Given the description of an element on the screen output the (x, y) to click on. 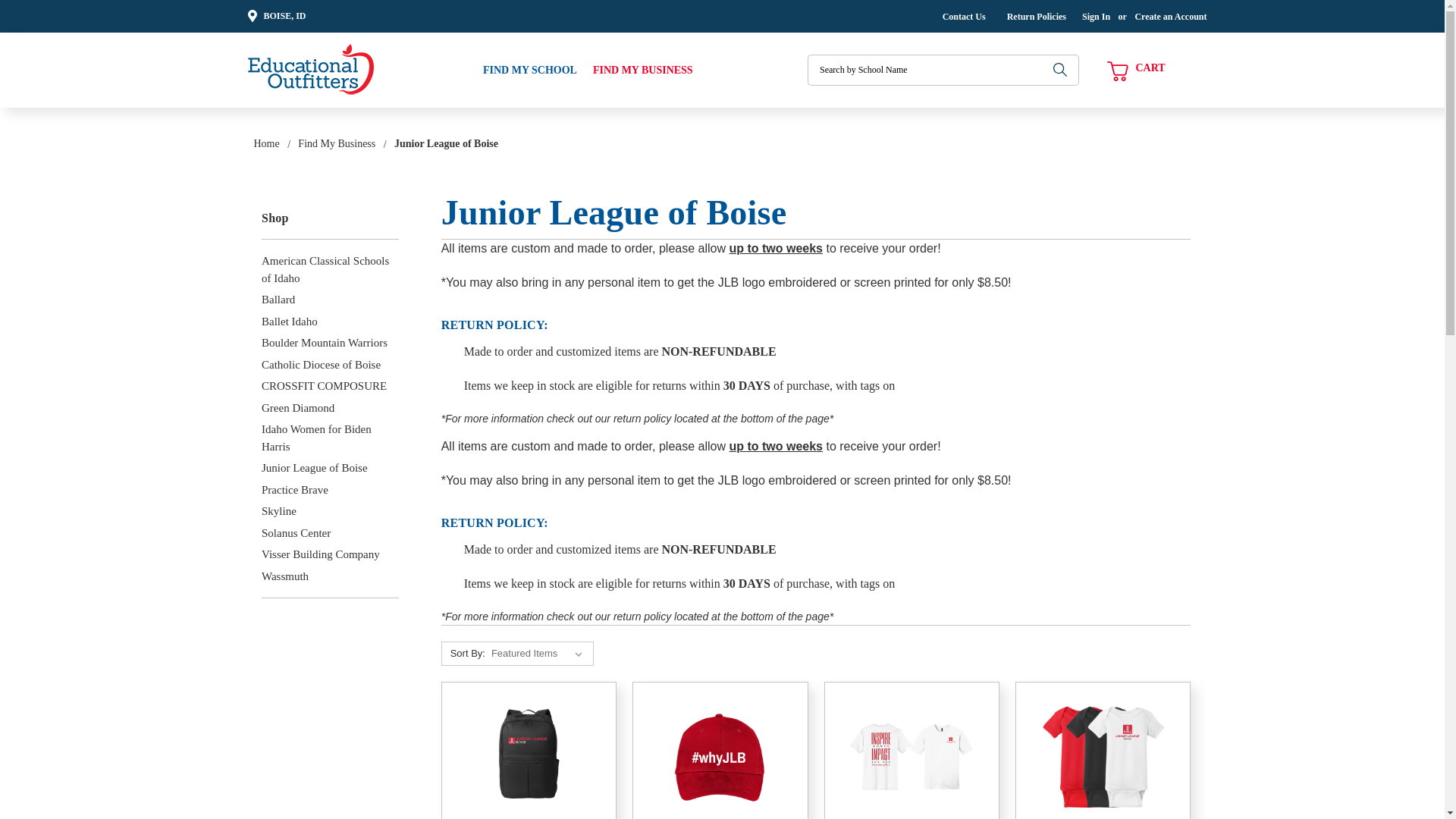
Ballet Idaho (330, 321)
CART (1135, 70)
Boulder Mountain Warriors (330, 342)
Create an Account (1170, 16)
Ballard (330, 300)
BOISE, ID (277, 16)
Green Diamond (330, 408)
FIND MY SCHOOL (529, 70)
Practice Brave  (330, 490)
Home (266, 143)
Visser Building Company (330, 554)
Wassmuth (330, 576)
Educational Outfitters - Boise (311, 69)
